Given the description of an element on the screen output the (x, y) to click on. 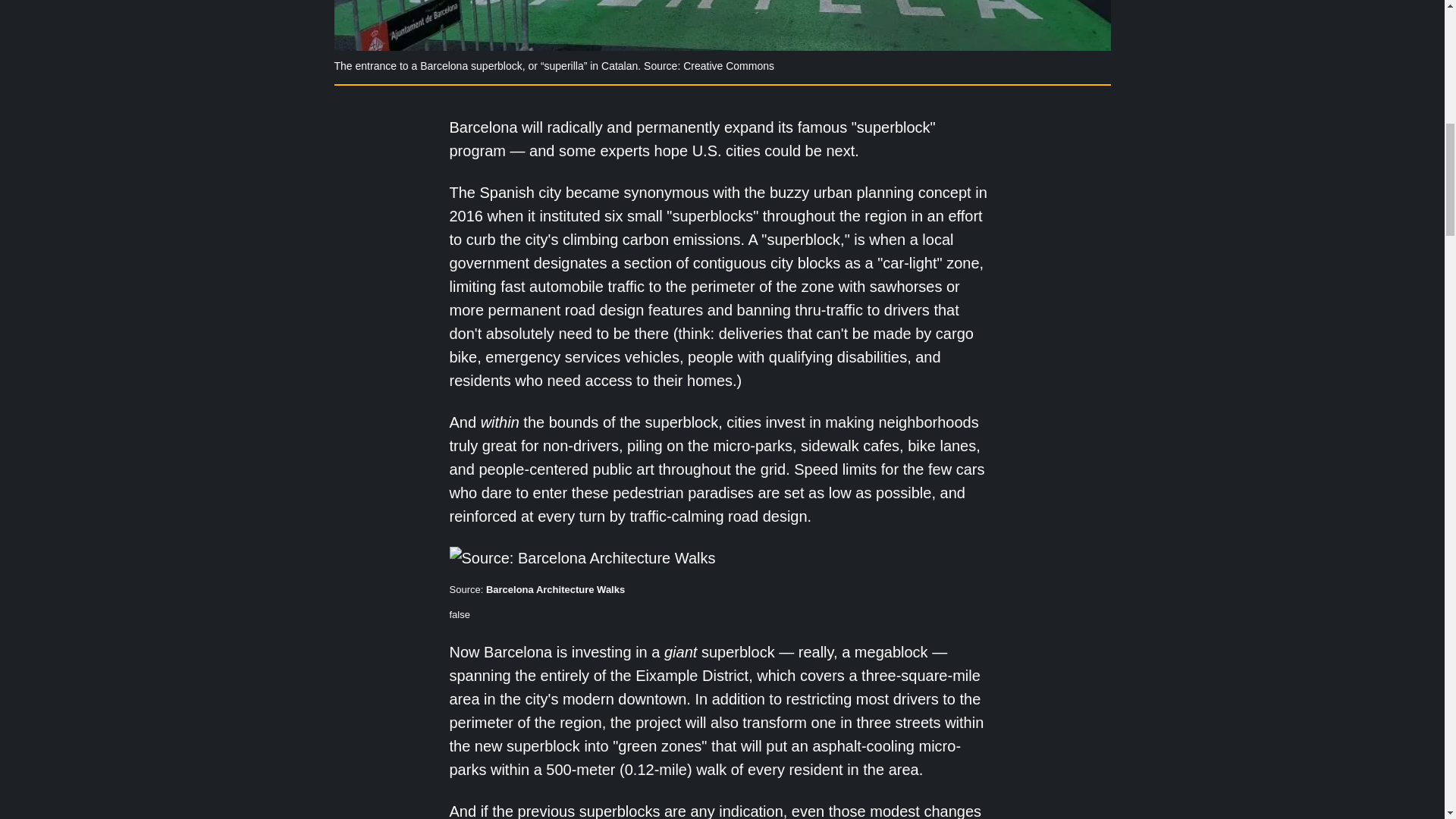
Barcelona Architecture Walks (555, 589)
